Given the description of an element on the screen output the (x, y) to click on. 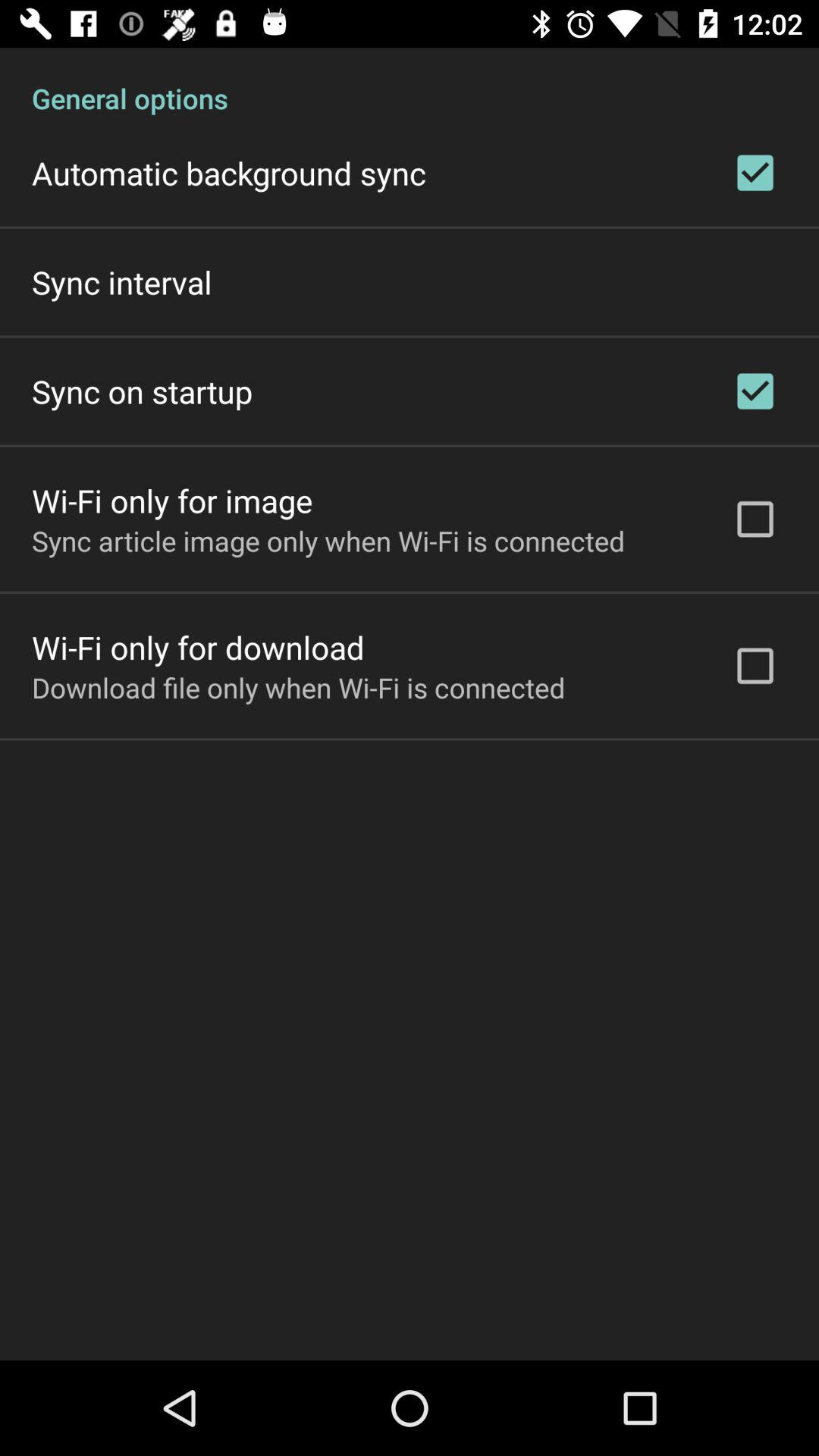
tap item above wi fi only (141, 390)
